Given the description of an element on the screen output the (x, y) to click on. 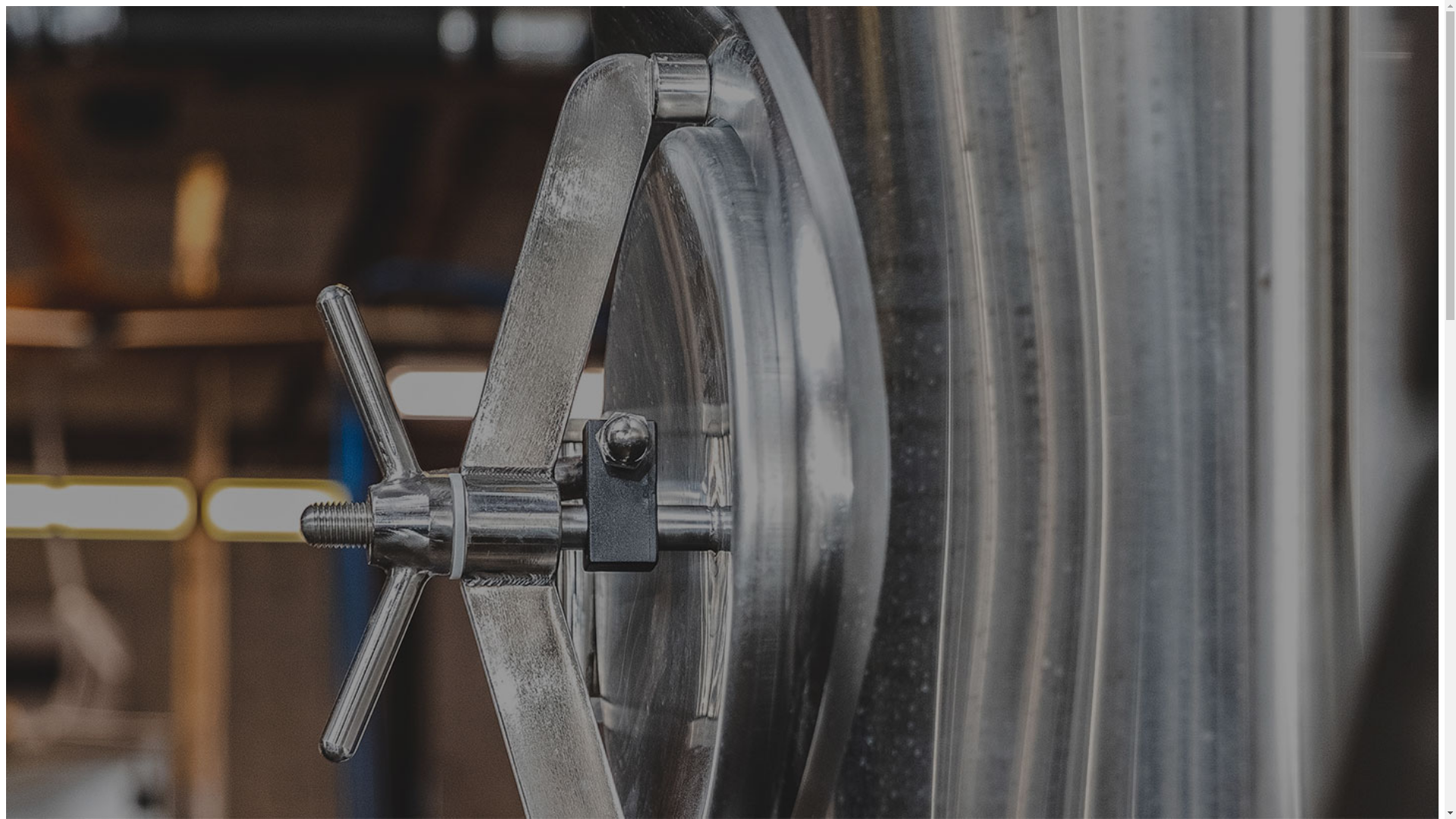
New England Brewing Element type: hover (612, 220)
BEER FINDER Element type: text (81, 290)
VOUCHERS Element type: text (66, 104)
BREWERY Element type: text (56, 67)
CONTACT Element type: text (62, 140)
STORY Element type: text (55, 122)
SHOP Element type: text (52, 85)
